Given the description of an element on the screen output the (x, y) to click on. 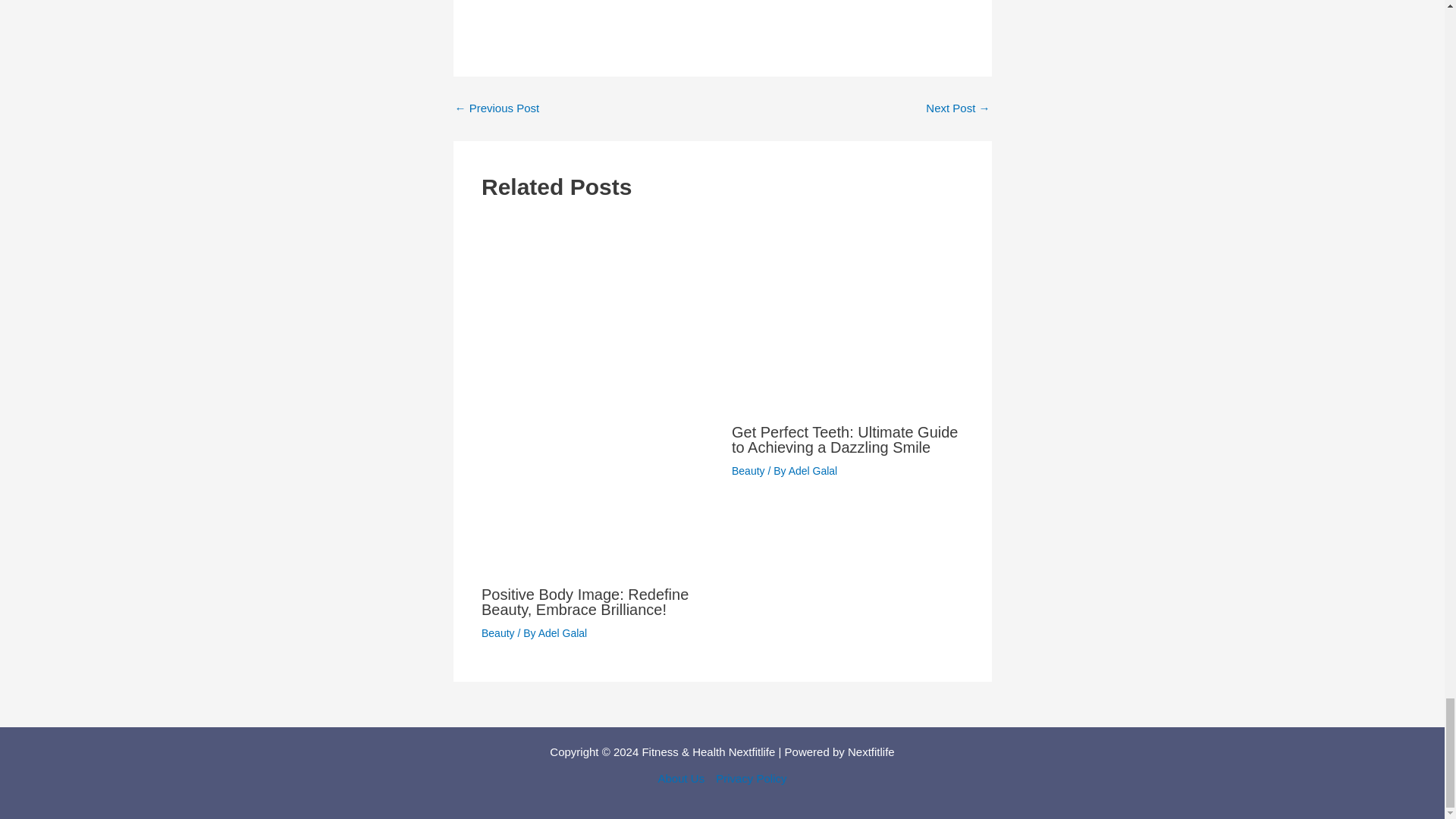
Positive Body Image: Redefine Beauty, Embrace Brilliance! (584, 602)
Adel Galal (563, 633)
About Us (684, 778)
White Tongue: Unraveling Symptoms, and Solutions (958, 107)
View all posts by Adel Galal (813, 470)
Beauty (498, 633)
Adel Galal (813, 470)
Beauty (748, 470)
View all posts by Adel Galal (563, 633)
